Given the description of an element on the screen output the (x, y) to click on. 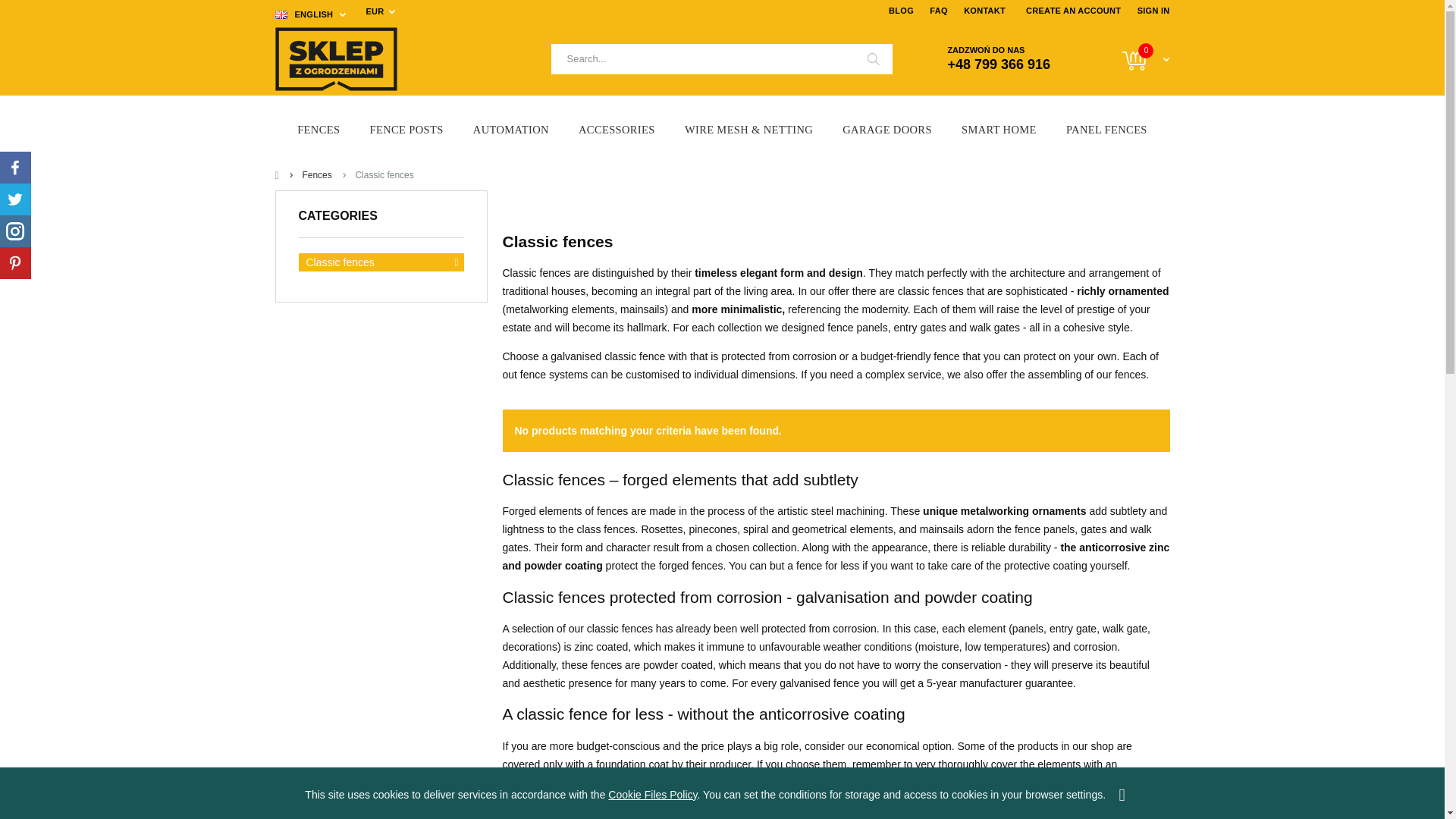
Home page (395, 58)
FAQ (938, 10)
0 (1134, 59)
Cookie Files Policy (652, 794)
KONTAKT (983, 10)
BLOG (901, 10)
Sign in (1153, 10)
Fences (318, 128)
CREATE AN ACCOUNT (1073, 10)
SIGN IN (1153, 10)
